Given the description of an element on the screen output the (x, y) to click on. 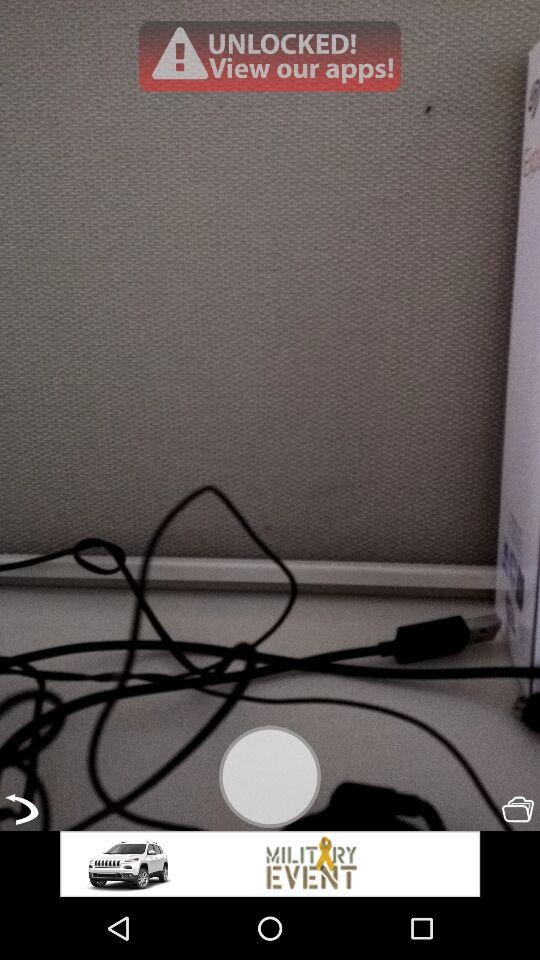
advertisement (270, 864)
